Given the description of an element on the screen output the (x, y) to click on. 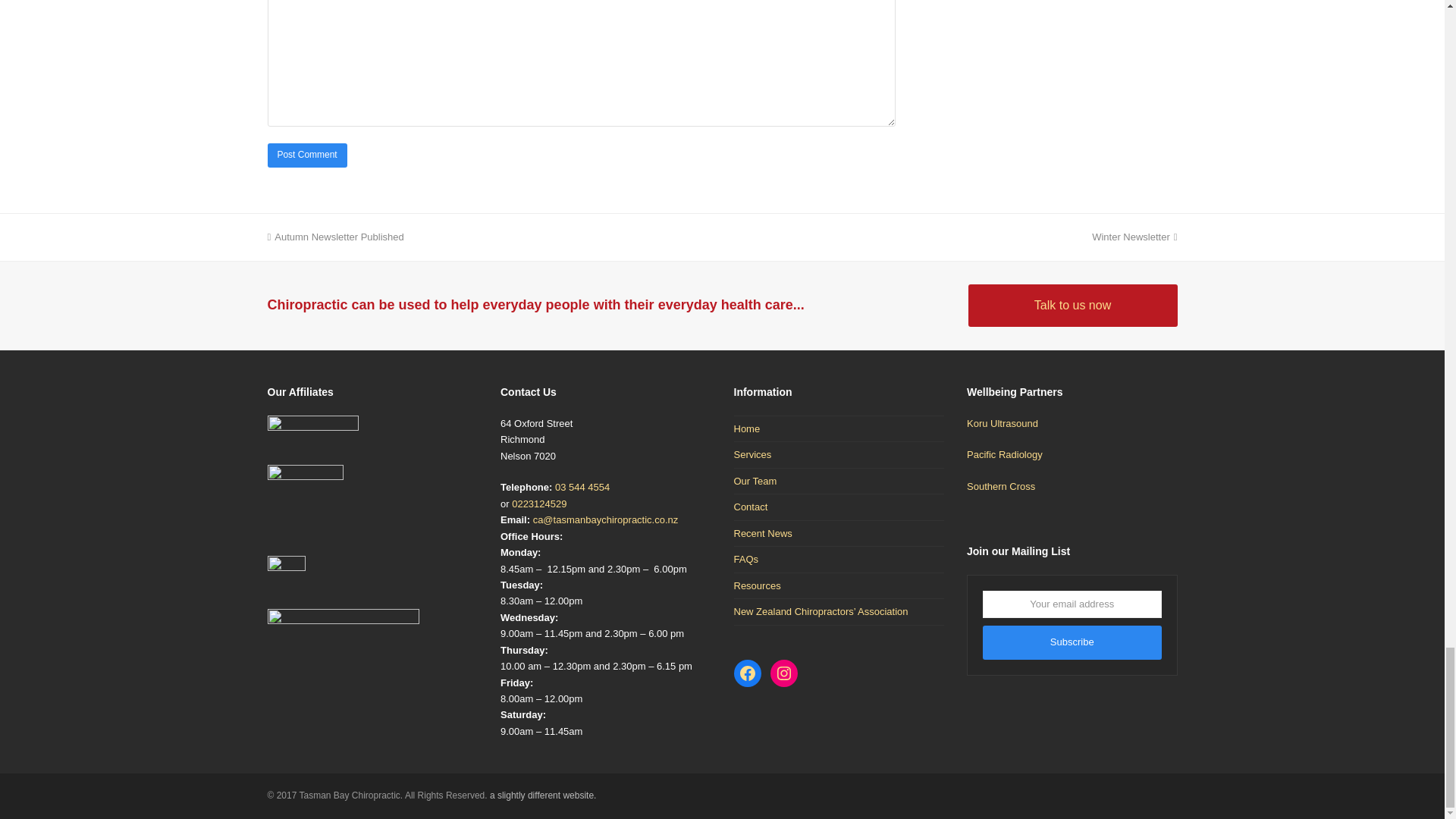
Post Comment (306, 155)
